Given the description of an element on the screen output the (x, y) to click on. 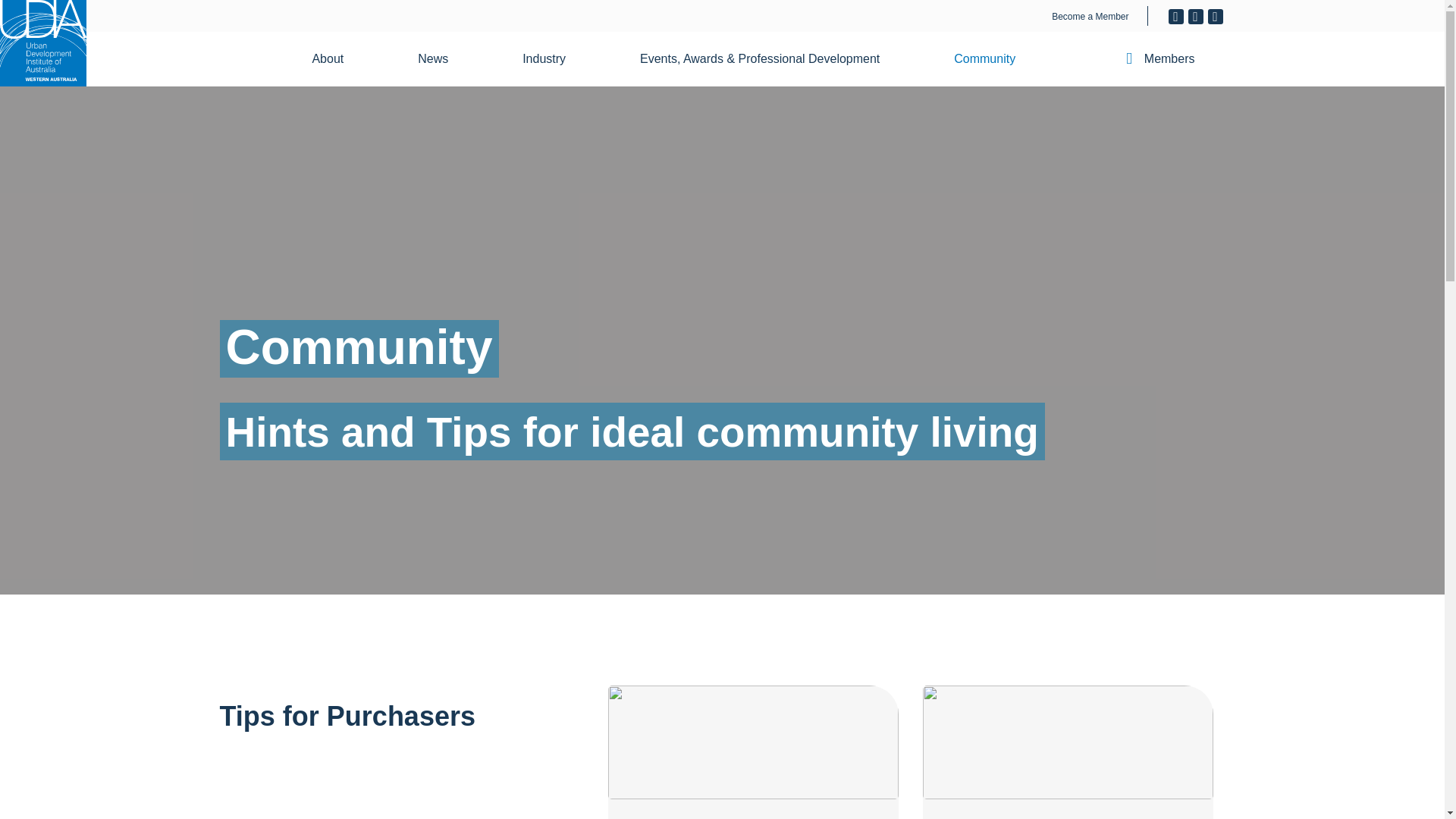
News (442, 59)
Logo (42, 43)
Become a Member (1089, 16)
About (336, 59)
Industry (553, 59)
Read more (753, 752)
Read more (1067, 752)
